Given the description of an element on the screen output the (x, y) to click on. 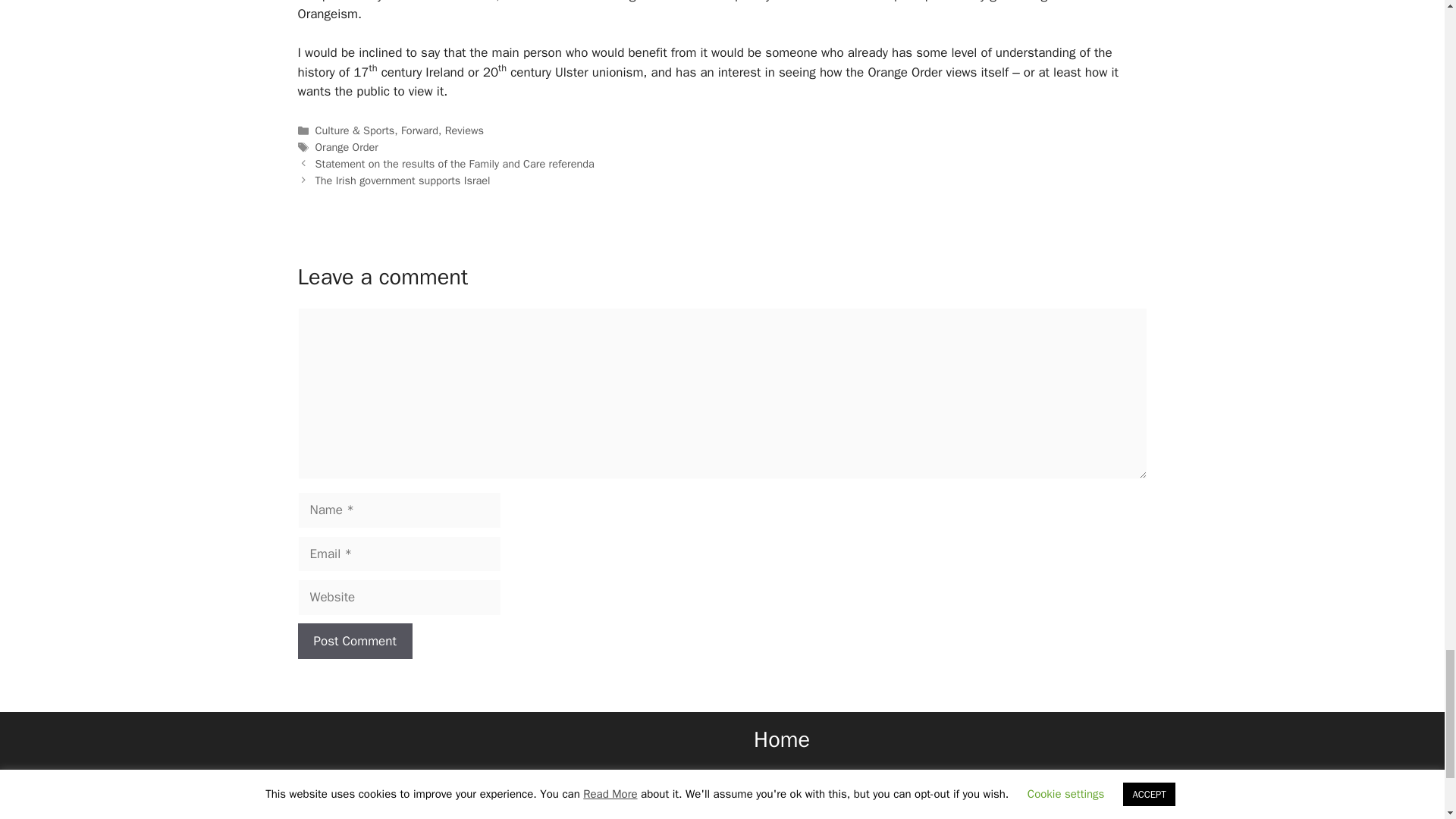
Post Comment (354, 641)
Statement on the results of the Family and Care referenda (454, 163)
Home (781, 739)
Reviews (464, 130)
Orange Order (346, 146)
Post Comment (354, 641)
Programme (781, 793)
Forward (419, 130)
The Irish government supports Israel (402, 179)
